Given the description of an element on the screen output the (x, y) to click on. 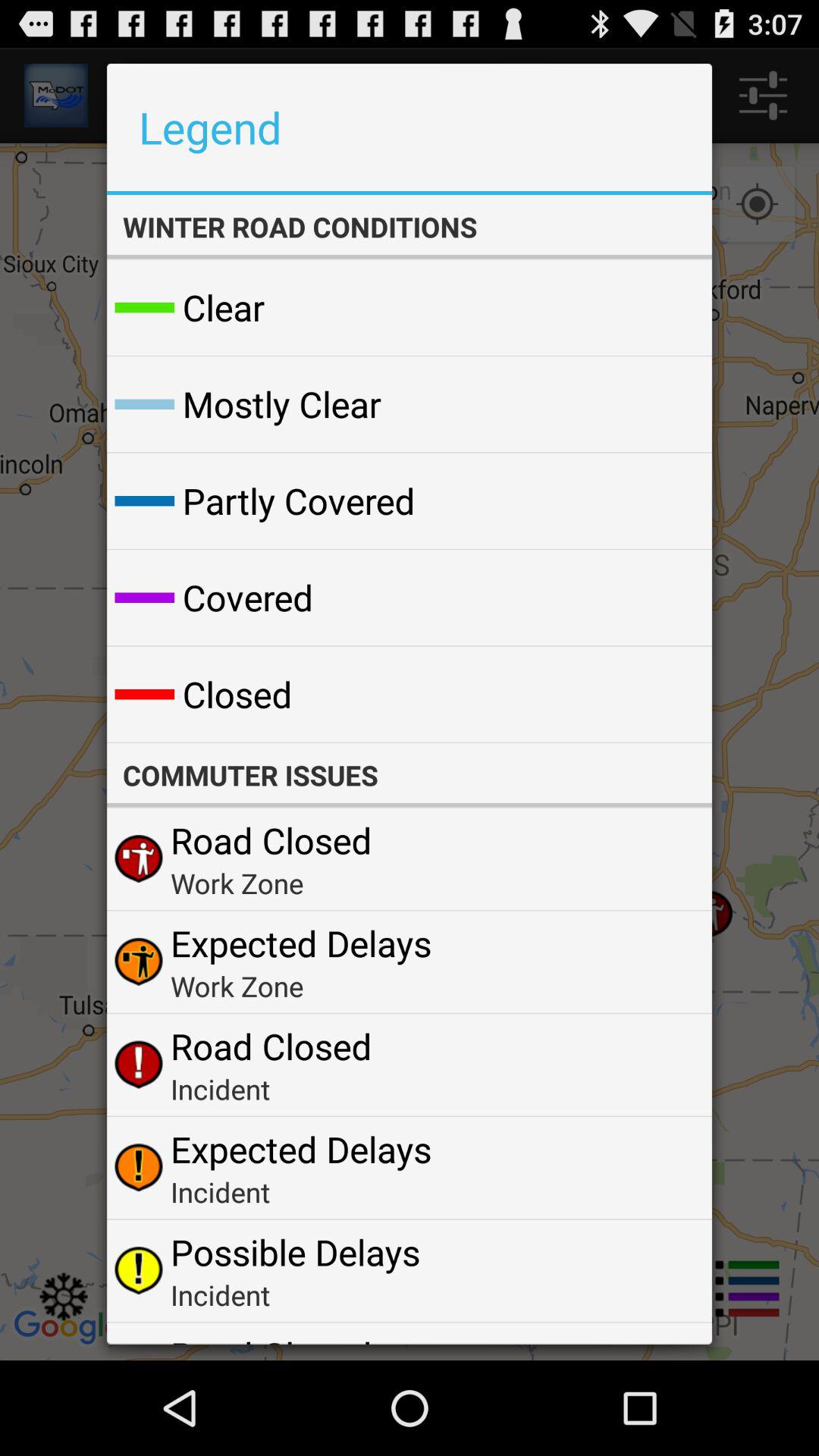
tap the icon next to expected delays app (664, 1167)
